Given the description of an element on the screen output the (x, y) to click on. 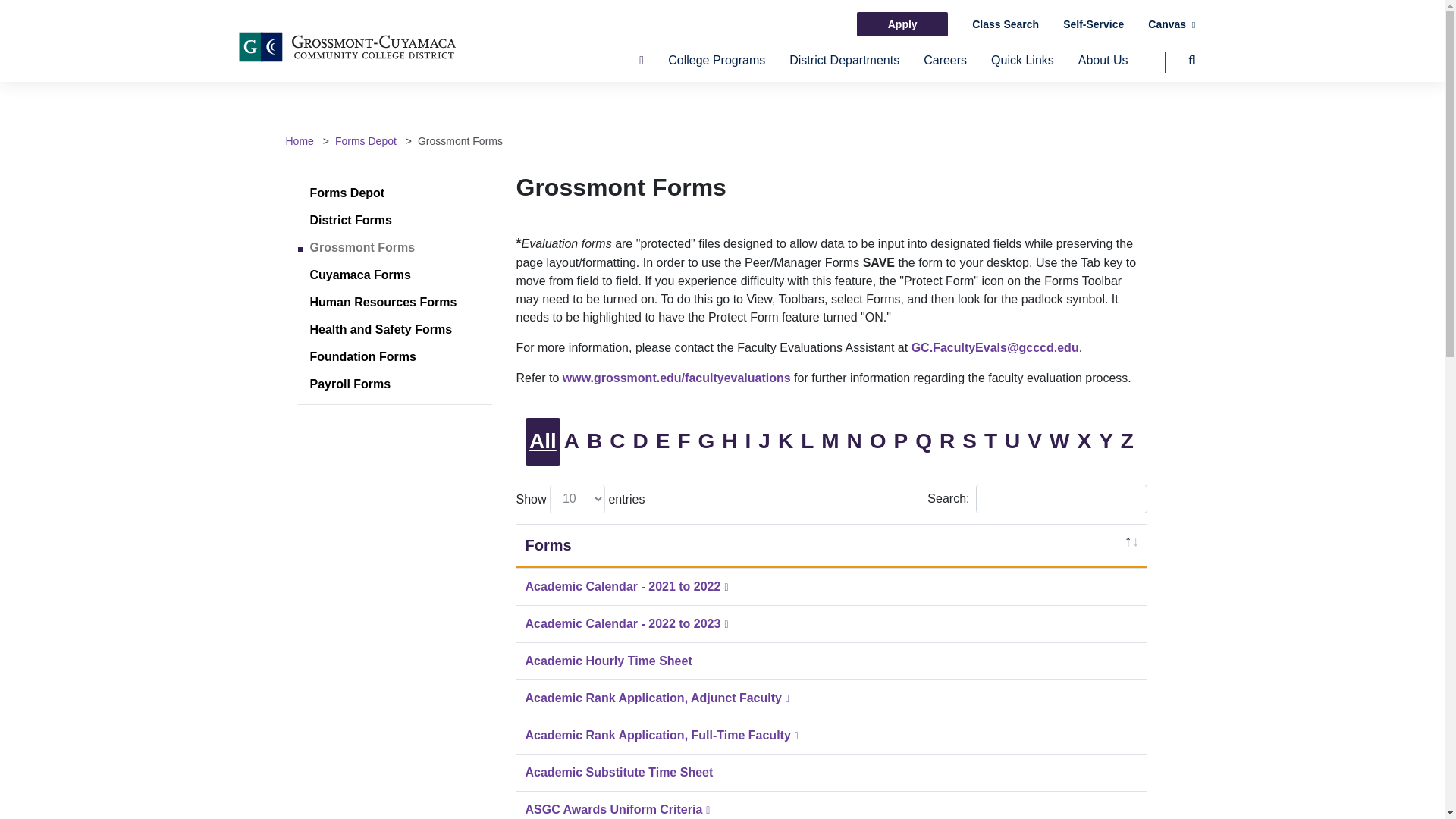
Forms Depot (365, 141)
Forms Depot (346, 192)
Class Search (1005, 23)
Apply (902, 24)
Visit Home (299, 141)
Cuyamaca Forms (359, 274)
Quick Links (1022, 66)
College Programs (716, 66)
About Us (1103, 66)
Careers (944, 66)
Academic Hourly Time Sheet (607, 660)
Search Button (1179, 66)
Canvas (1171, 23)
Academic Calendar - 2022 to 2023 (628, 624)
Self-Service (1093, 23)
